Given the description of an element on the screen output the (x, y) to click on. 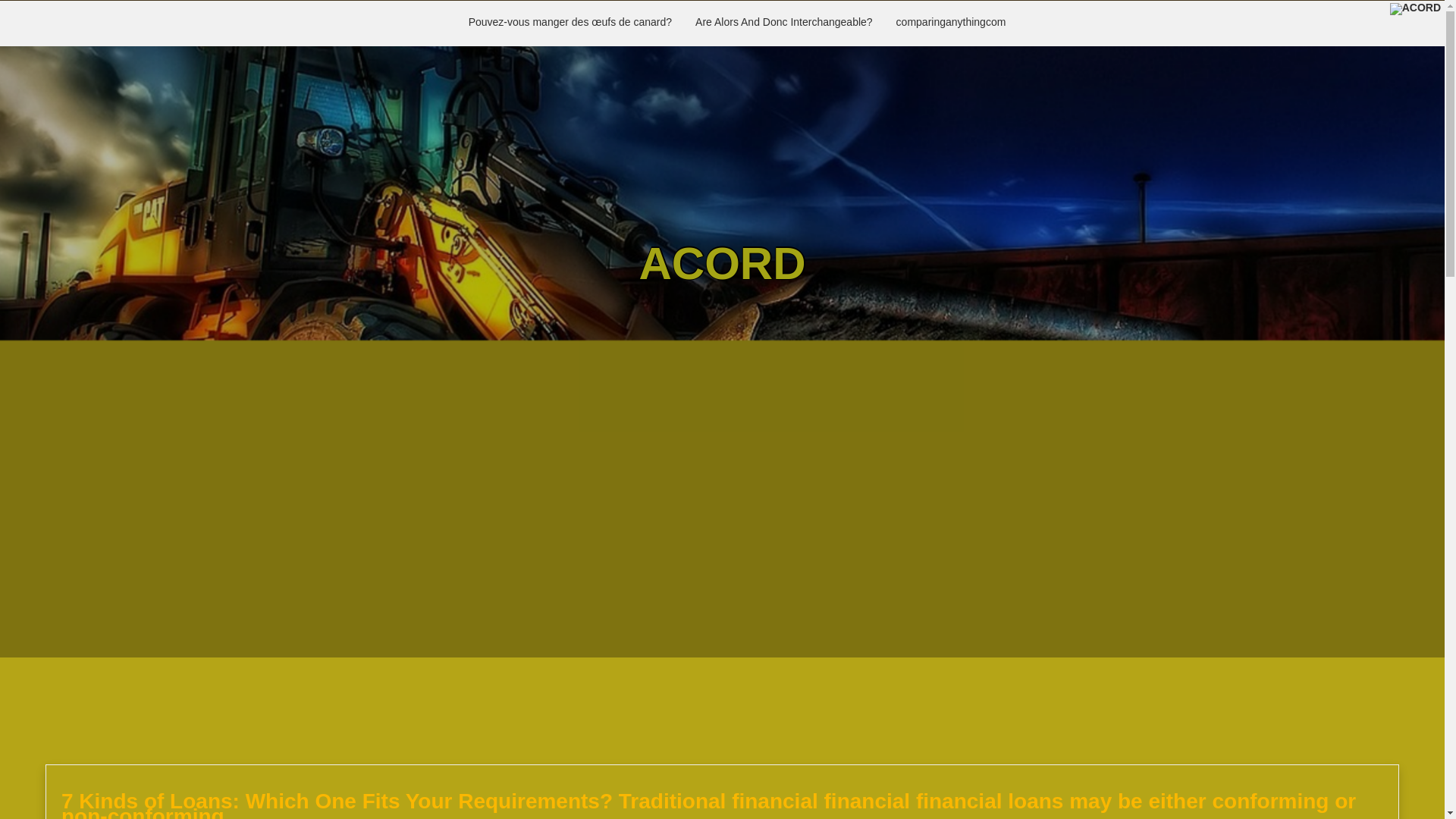
ACORD (722, 263)
Are Alors And Donc Interchangeable? (784, 22)
comparinganythingcom (951, 22)
